Given the description of an element on the screen output the (x, y) to click on. 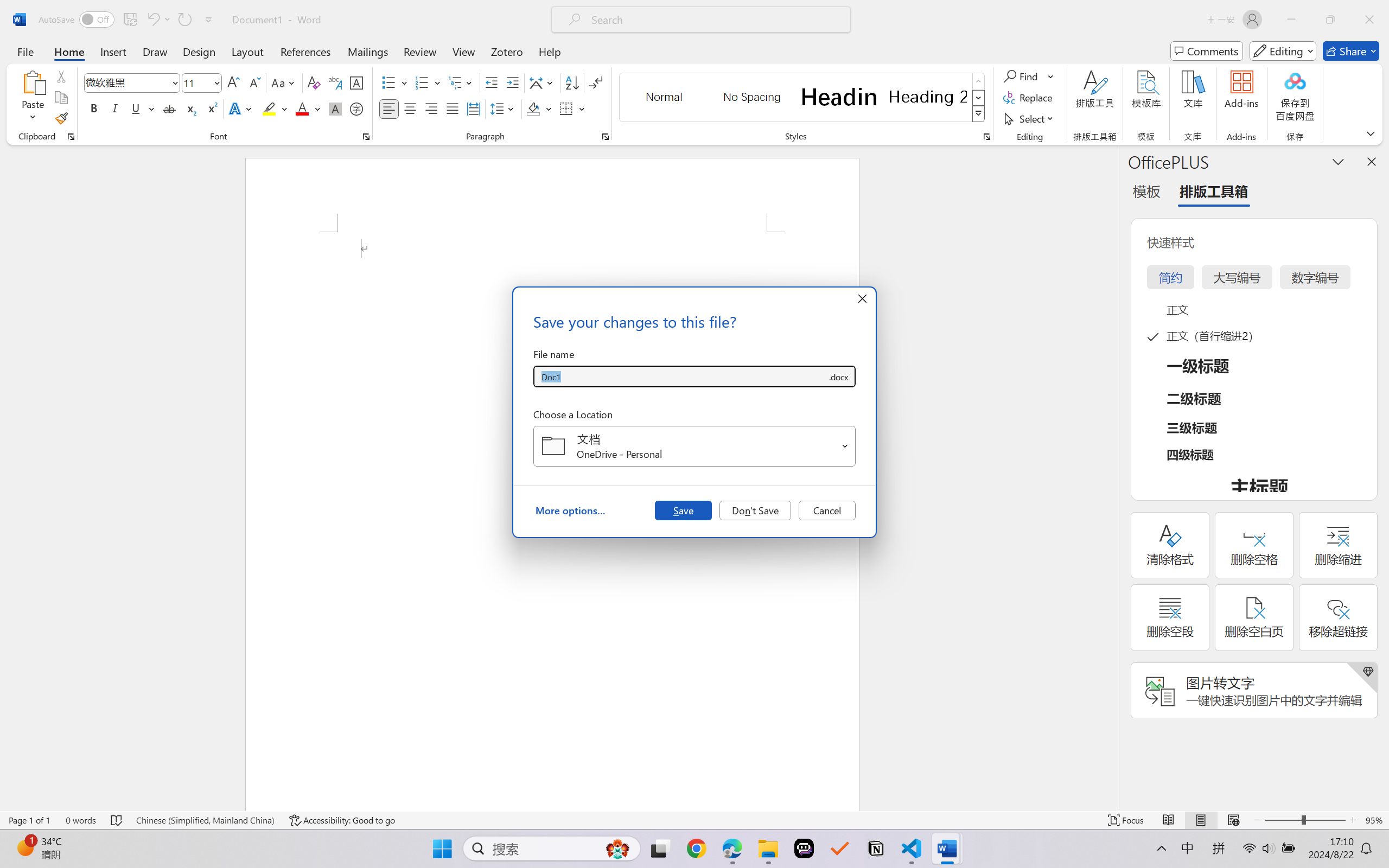
File name (680, 376)
Font Color Red (302, 108)
